Given the description of an element on the screen output the (x, y) to click on. 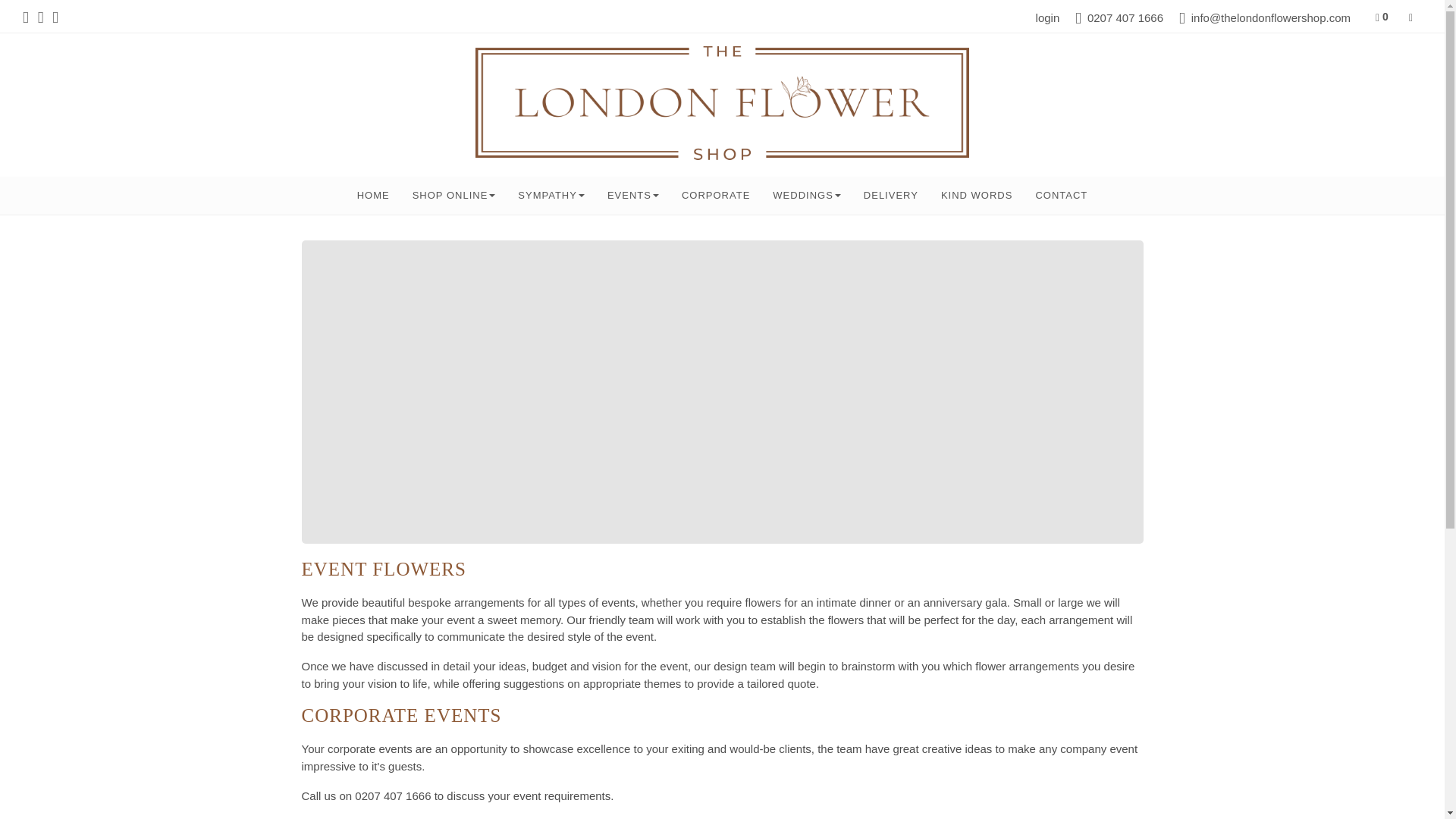
0207 407 1666 (1119, 17)
0 (1382, 16)
login (1047, 17)
Home (373, 195)
